Given the description of an element on the screen output the (x, y) to click on. 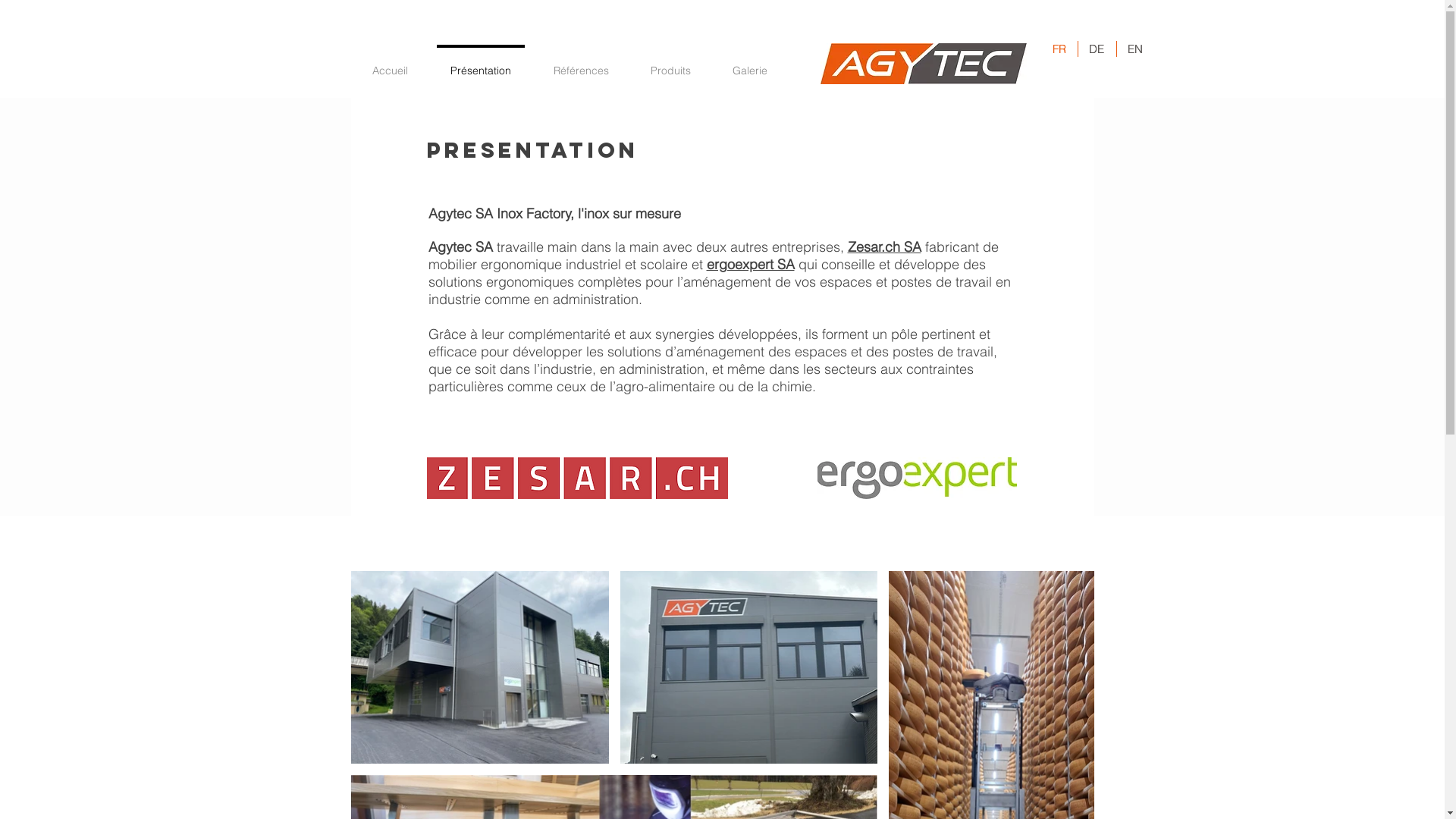
ergoexpert SA Element type: text (750, 264)
EN Element type: text (1135, 48)
Galerie Element type: text (749, 63)
FR Element type: text (1059, 48)
DE Element type: text (1096, 48)
Produits Element type: text (670, 63)
Accueil Element type: text (389, 63)
Zesar.ch SA Element type: text (884, 246)
